Given the description of an element on the screen output the (x, y) to click on. 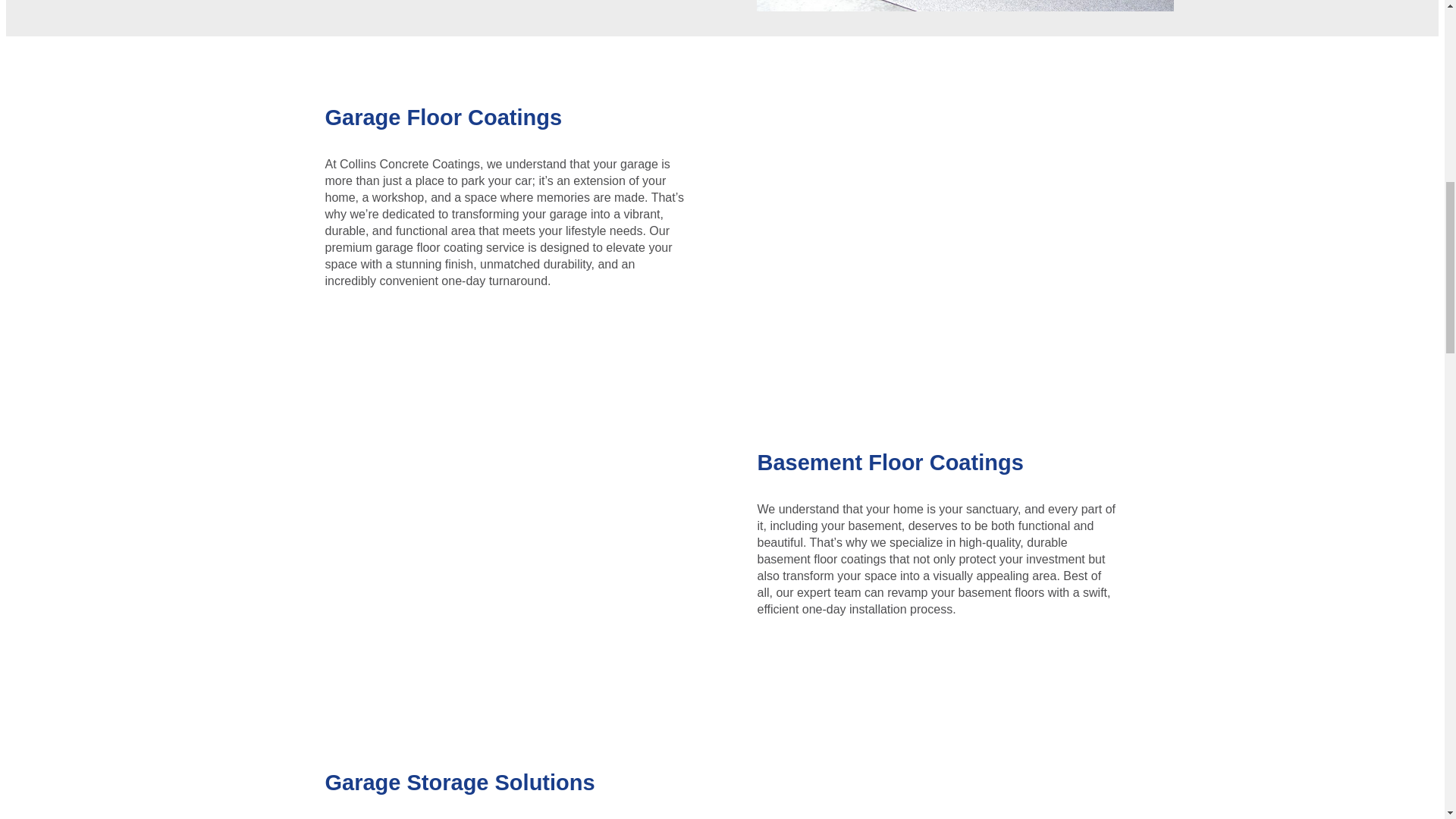
Garage Floor Coatings 1 (965, 5)
